Given the description of an element on the screen output the (x, y) to click on. 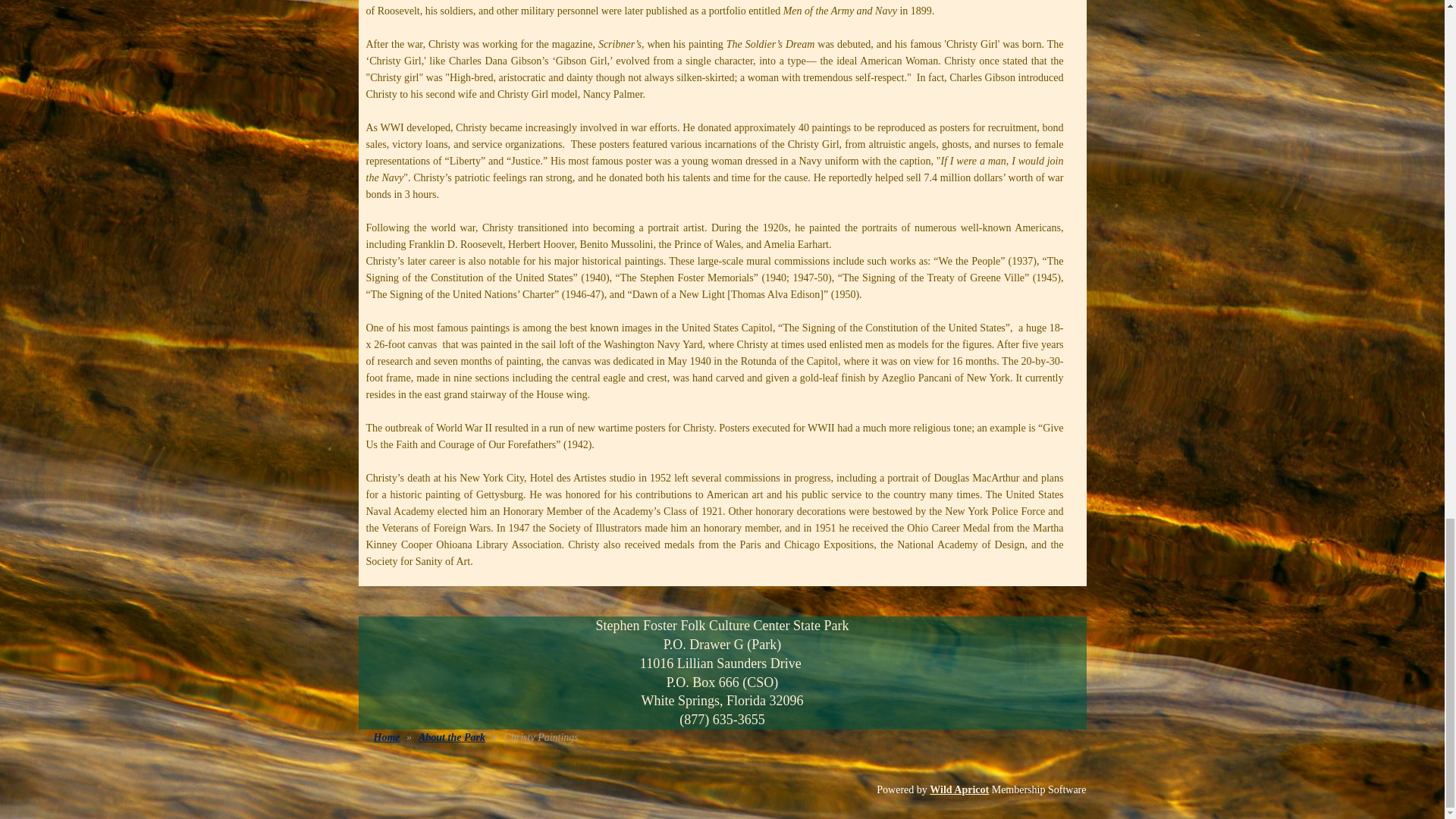
About the Park (451, 737)
Wild Apricot (959, 789)
Home (385, 737)
